Given the description of an element on the screen output the (x, y) to click on. 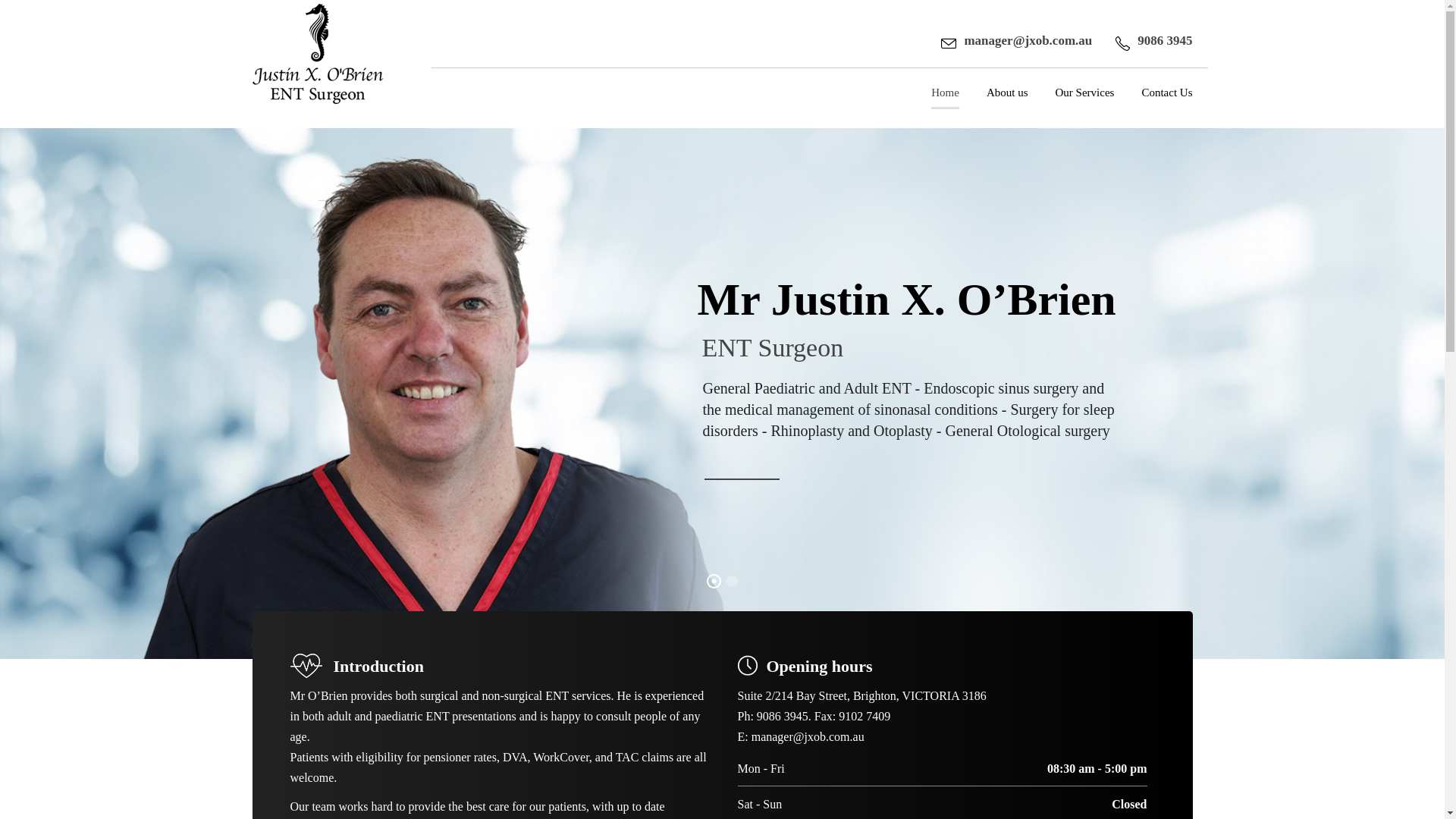
Contact Us Element type: text (1166, 105)
logo Element type: hover (316, 53)
Top-icon2 Element type: hover (746, 665)
Our Services Element type: text (1084, 105)
Home Element type: text (945, 105)
About us Element type: text (1007, 105)
Top-icon1 Element type: hover (305, 665)
